Given the description of an element on the screen output the (x, y) to click on. 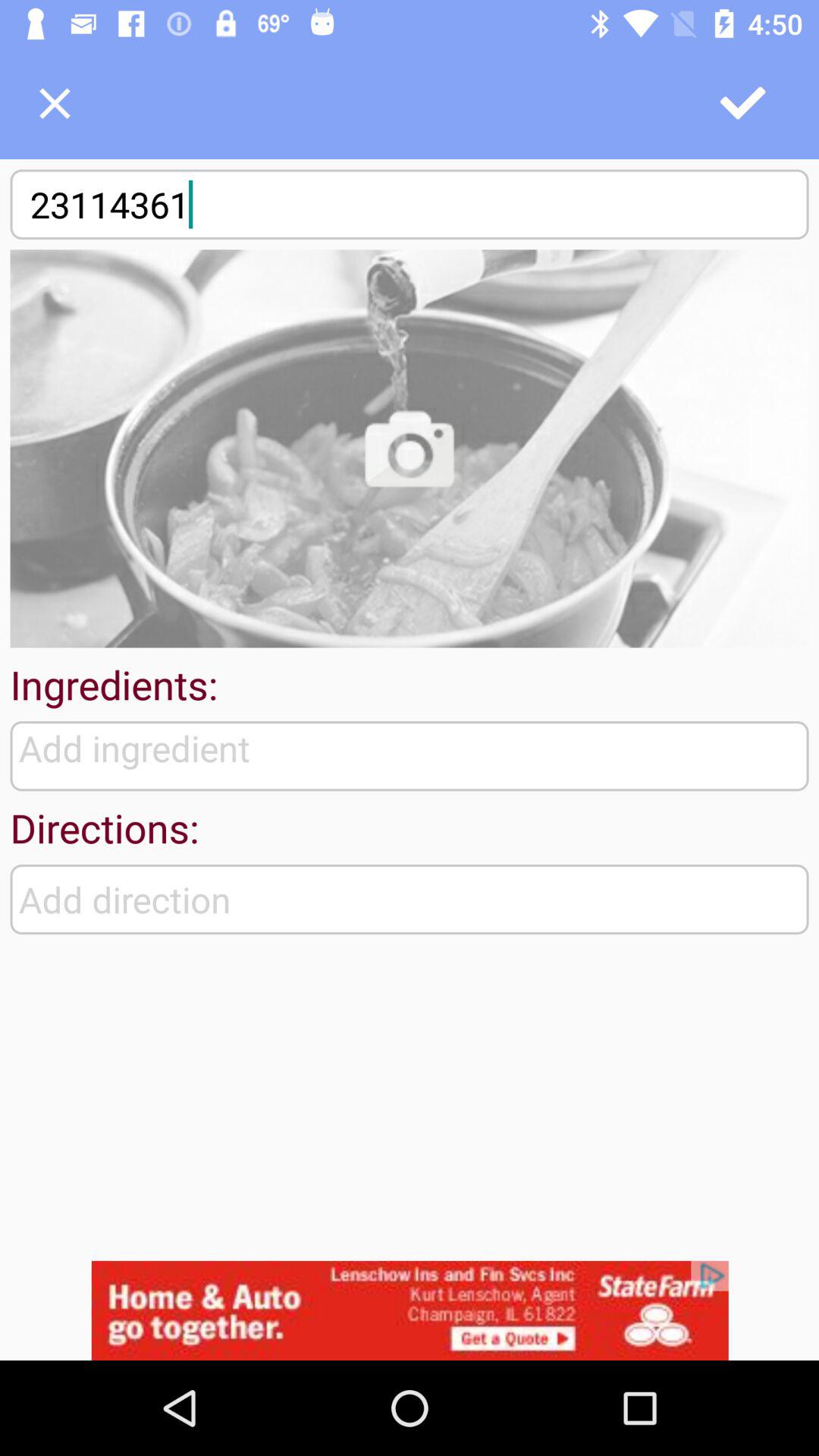
upload picture (409, 448)
